Given the description of an element on the screen output the (x, y) to click on. 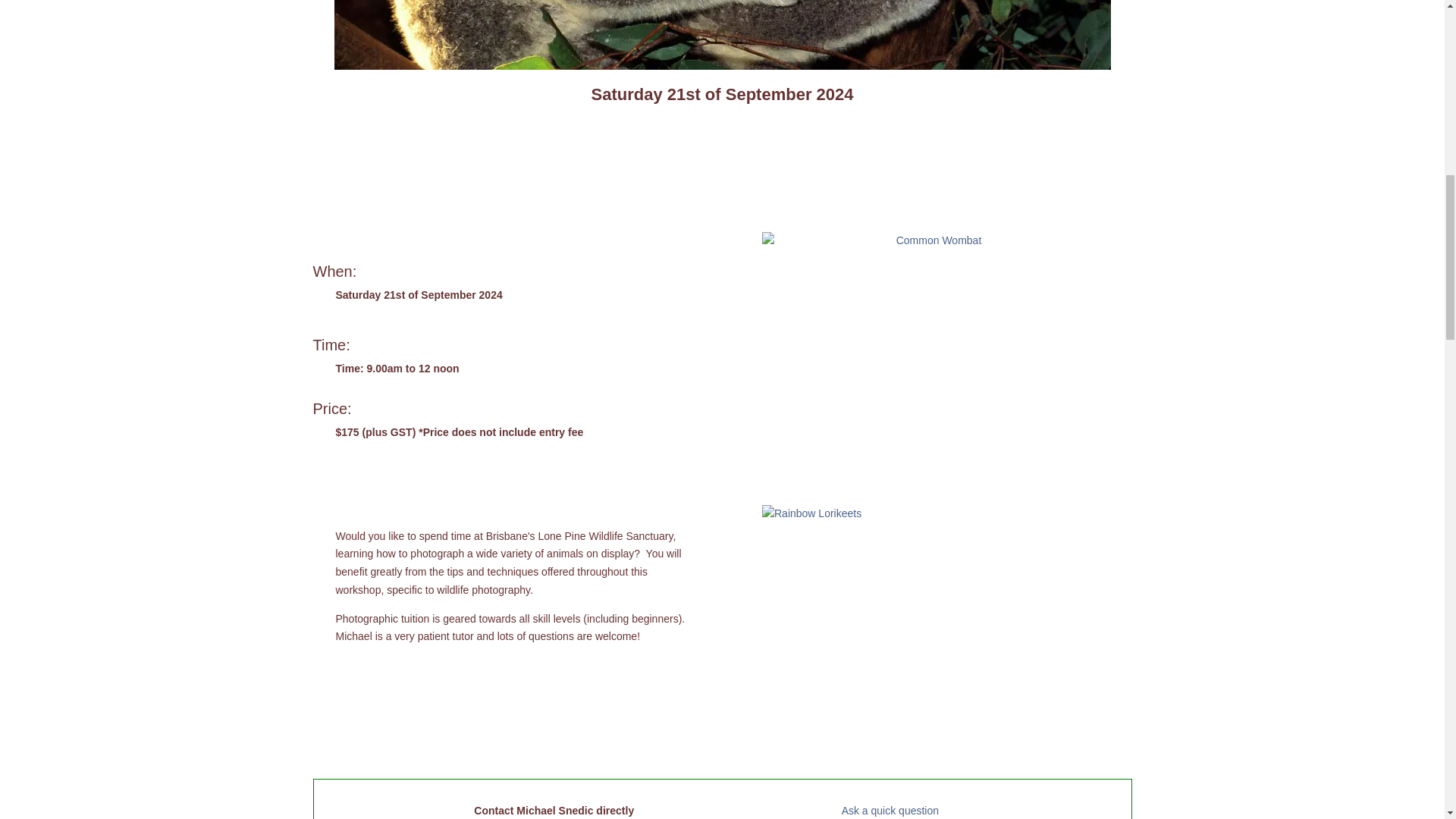
Ask a quick question (890, 810)
